Given the description of an element on the screen output the (x, y) to click on. 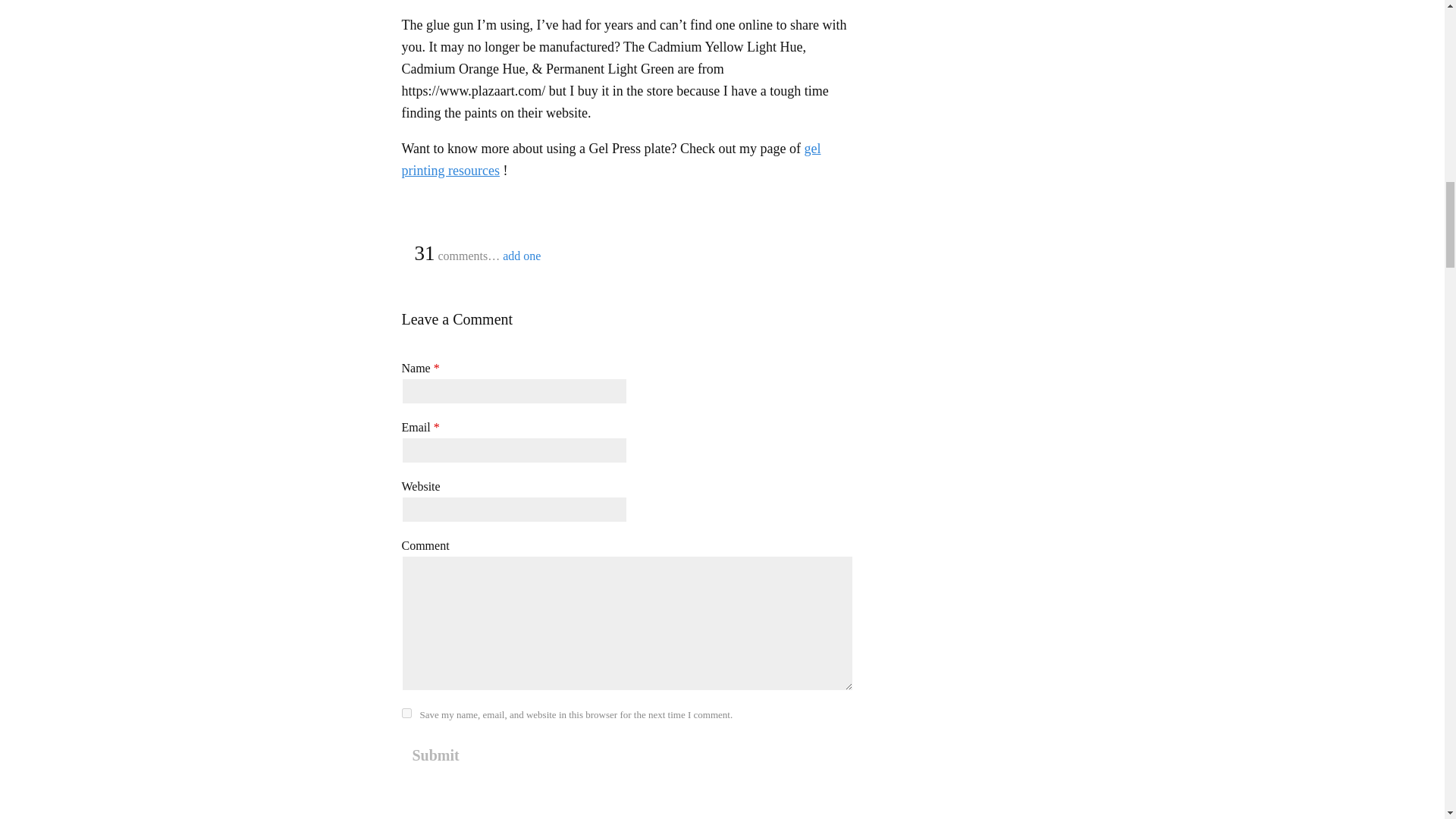
yes (406, 713)
gel printing resources (611, 159)
Submit (435, 755)
add one (521, 255)
Submit (435, 755)
